Given the description of an element on the screen output the (x, y) to click on. 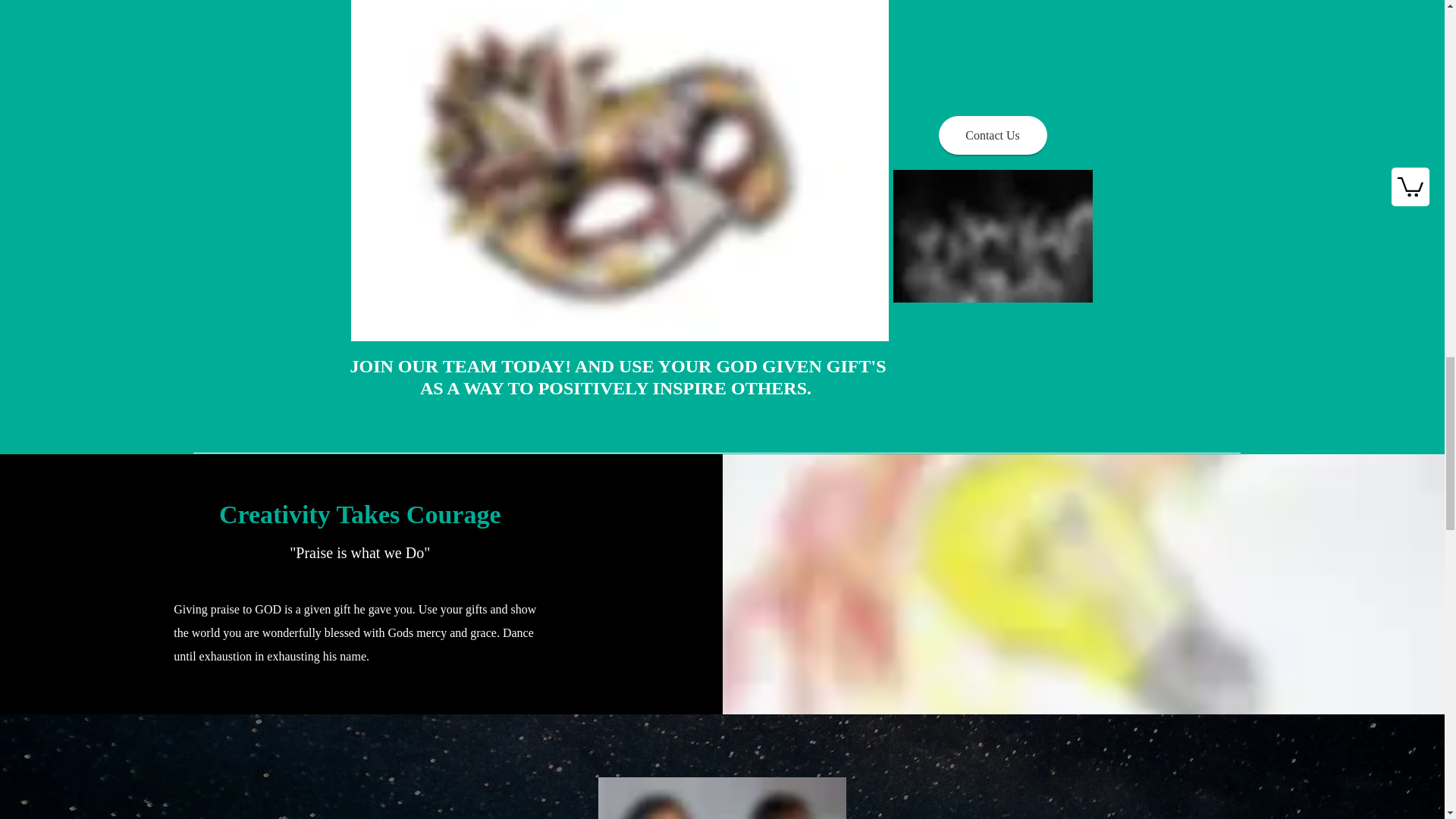
Contact Us (992, 135)
